Given the description of an element on the screen output the (x, y) to click on. 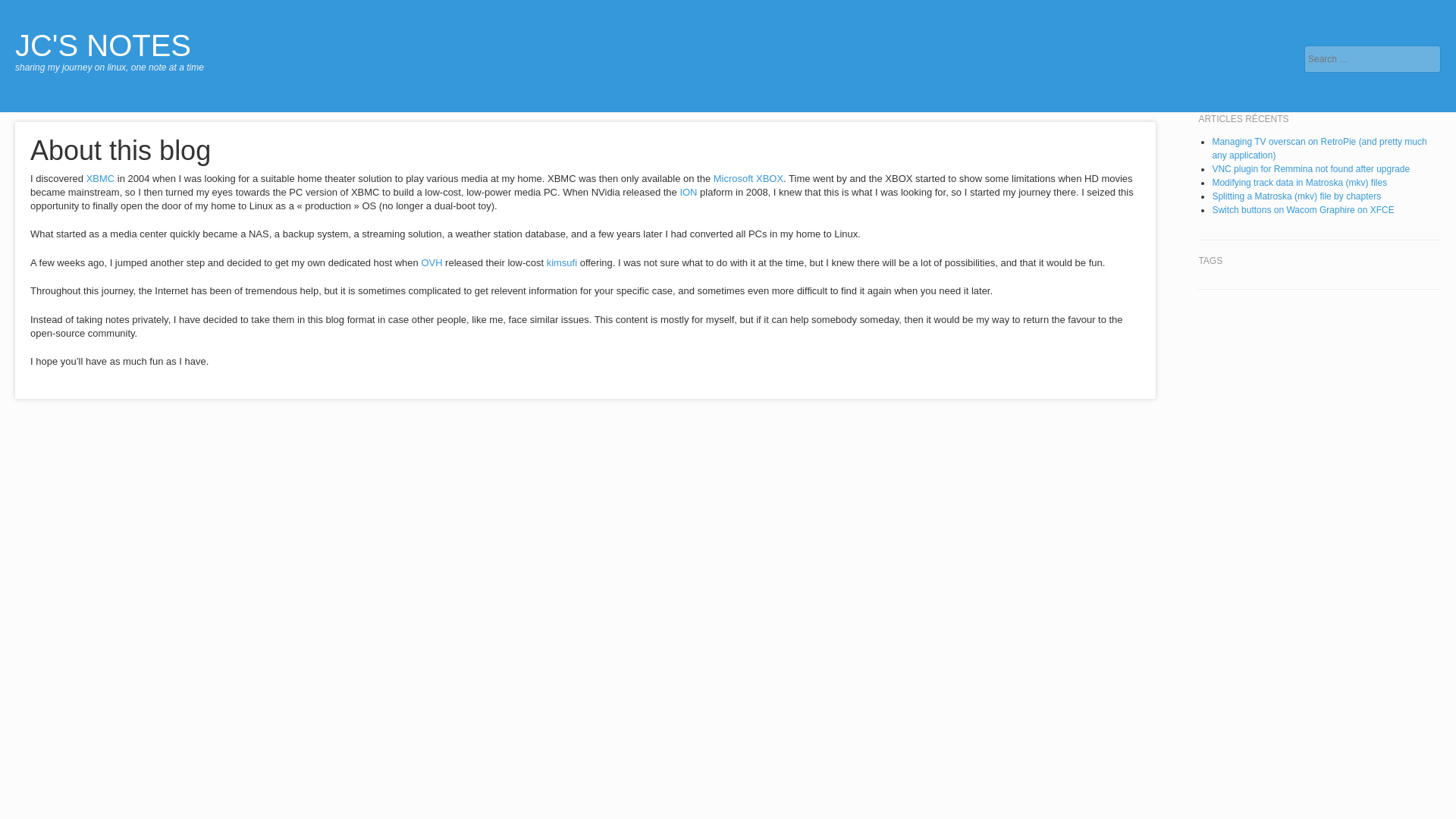
OVH (431, 262)
VNC plugin for Remmina not found after upgrade (1310, 168)
Switch buttons on Wacom Graphire on XFCE (1302, 209)
XBMC (100, 178)
JC's notes (102, 45)
kimsufi (561, 262)
JC'S NOTES (102, 45)
About this blog (120, 150)
Microsoft XBOX (748, 178)
ION (688, 192)
